Given the description of an element on the screen output the (x, y) to click on. 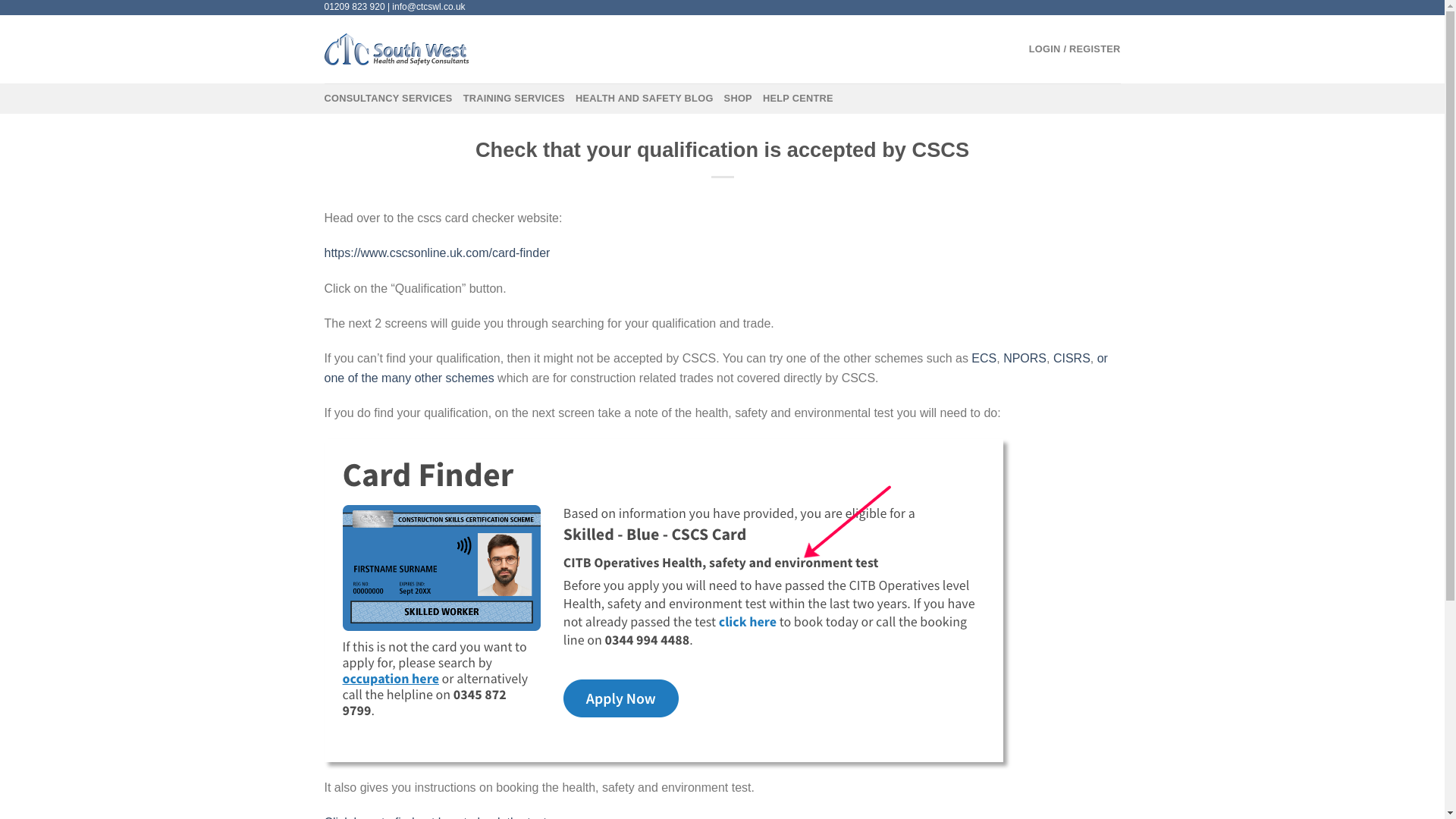
HELP CENTRE (797, 98)
Click here to find out how to book the test. (437, 817)
CONSULTANCY SERVICES (388, 98)
ECS (983, 358)
SHOP (737, 98)
CISRS (1071, 358)
CTC South West Ltd - Health and Safety Services (400, 49)
TRAINING SERVICES (513, 98)
or one of the many other schemes (716, 368)
HEALTH AND SAFETY BLOG (644, 98)
